Given the description of an element on the screen output the (x, y) to click on. 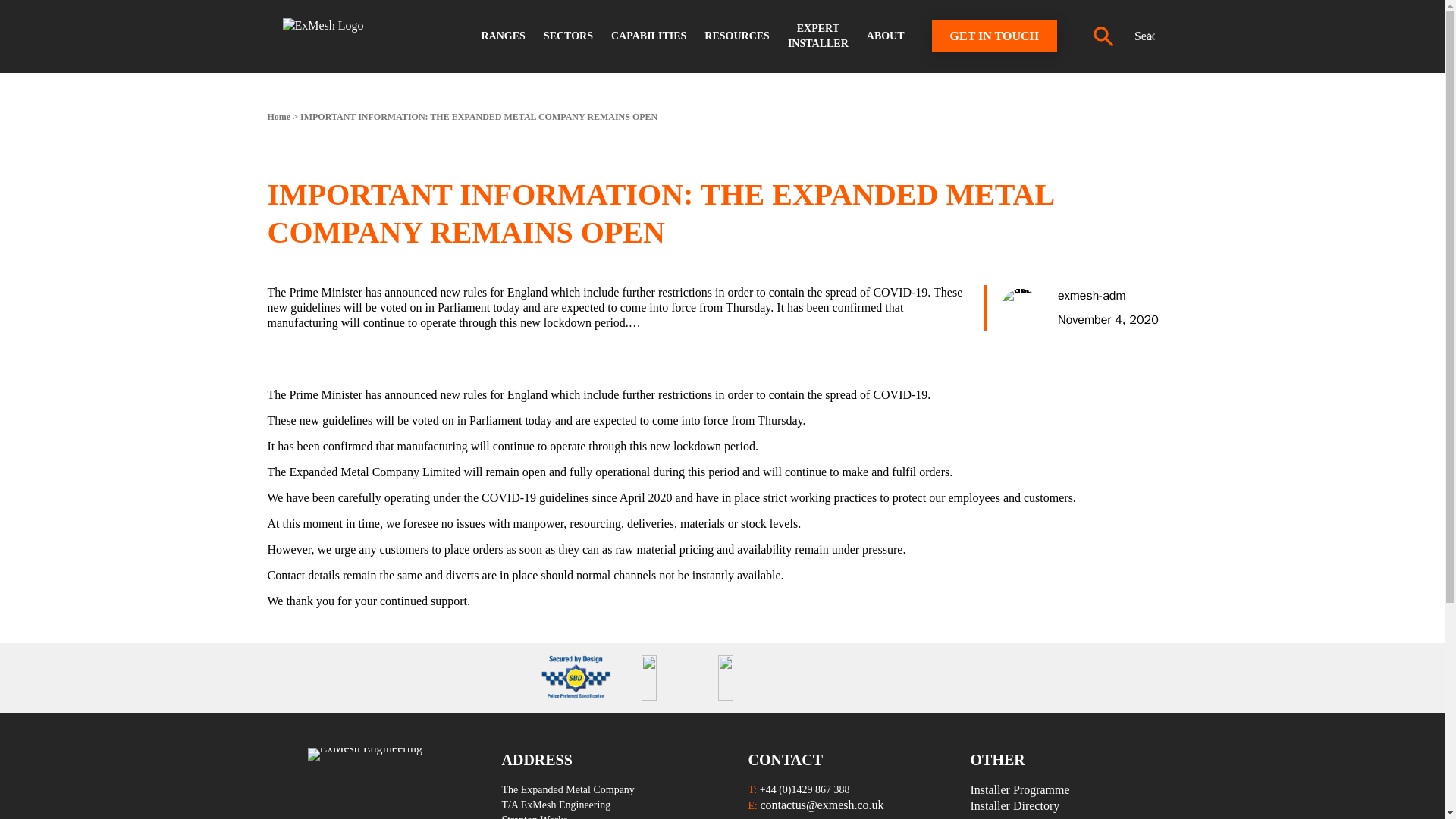
CAPABILITIES (648, 36)
SECTORS (568, 36)
GET IN TOUCH (994, 35)
RESOURCES (736, 36)
EXPERT INSTALLER (817, 36)
